Given the description of an element on the screen output the (x, y) to click on. 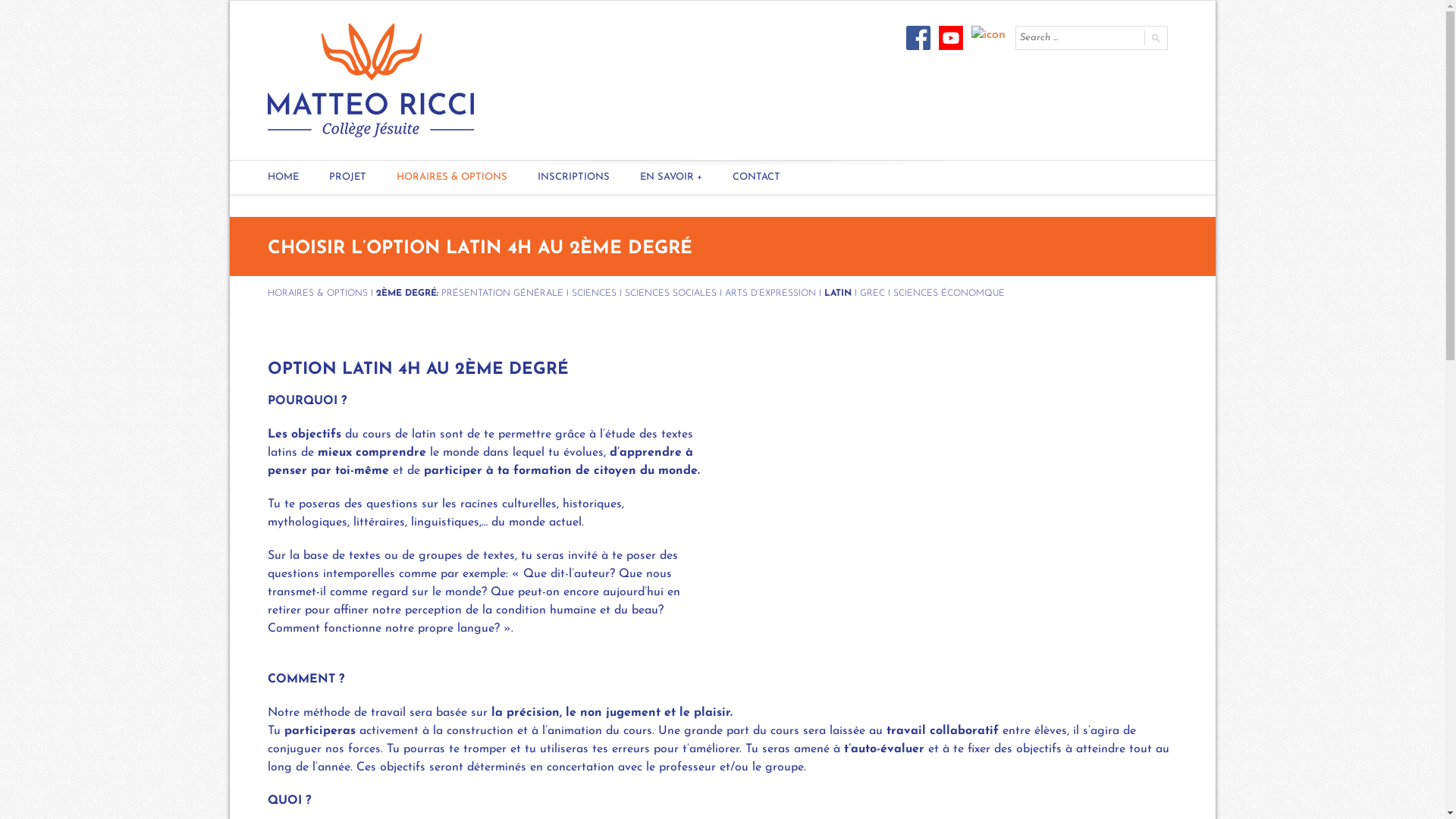
SCIENCES SOCIALES Element type: text (670, 293)
PROJET Element type: text (347, 177)
CONTACT Element type: text (756, 177)
HORAIRES & OPTIONS Element type: text (316, 293)
HOME Element type: text (282, 177)
HORAIRES & OPTIONS Element type: text (450, 177)
GREC Element type: text (871, 293)
EN SAVOIR + Element type: text (670, 177)
INSCRIPTIONS Element type: text (572, 177)
Search Element type: text (1154, 37)
Search for: Element type: hover (1078, 37)
SCIENCES Element type: text (593, 293)
